Given the description of an element on the screen output the (x, y) to click on. 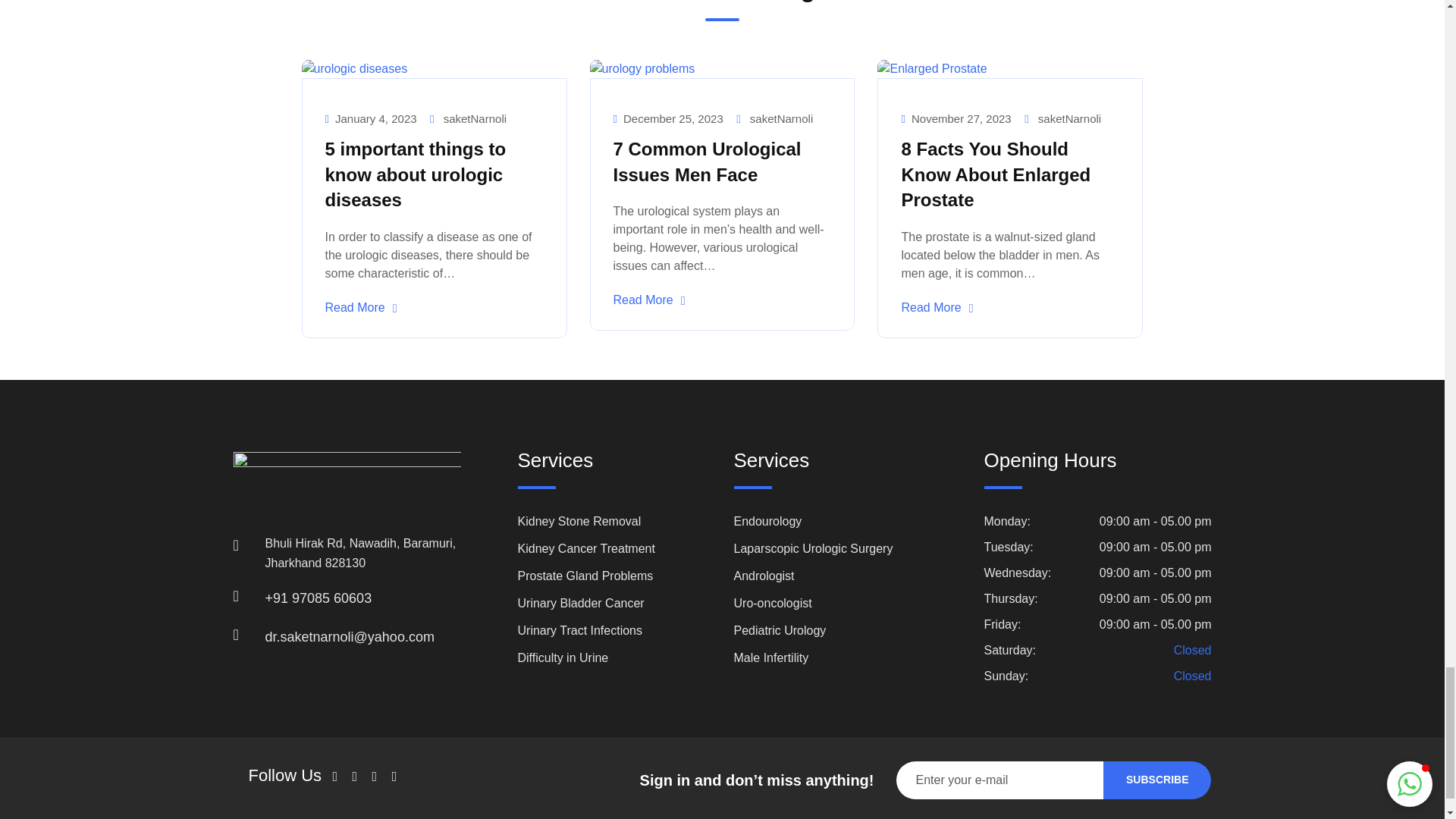
SUBSCRIBE (1157, 779)
Posts by saketNarnoli (1069, 118)
Posts by saketNarnoli (475, 118)
Posts by saketNarnoli (780, 118)
